Given the description of an element on the screen output the (x, y) to click on. 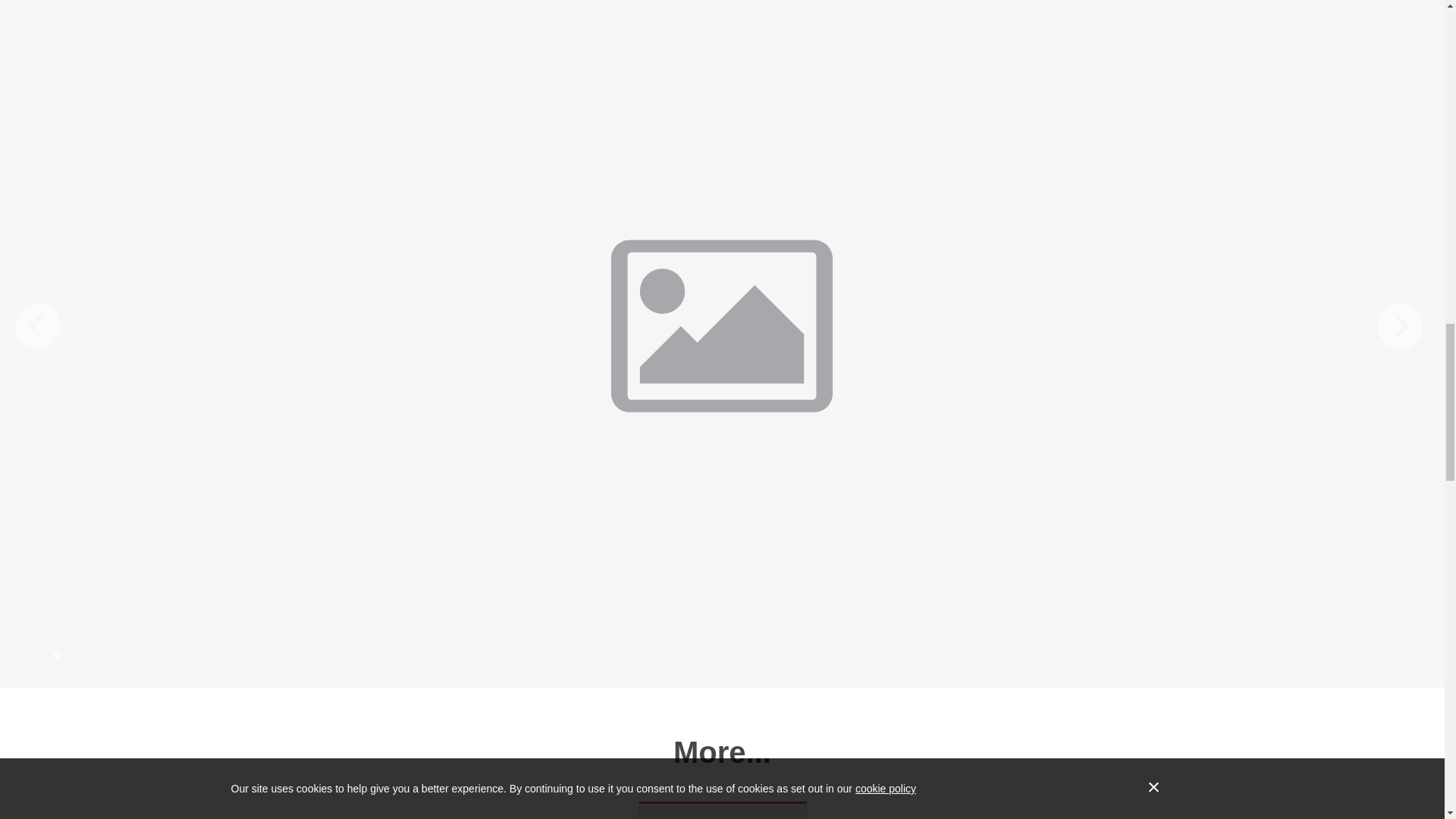
5 (130, 655)
1 (57, 655)
2 (75, 655)
4 (111, 655)
Previous (37, 325)
3 (93, 655)
Next (1400, 325)
6 (148, 655)
